Given the description of an element on the screen output the (x, y) to click on. 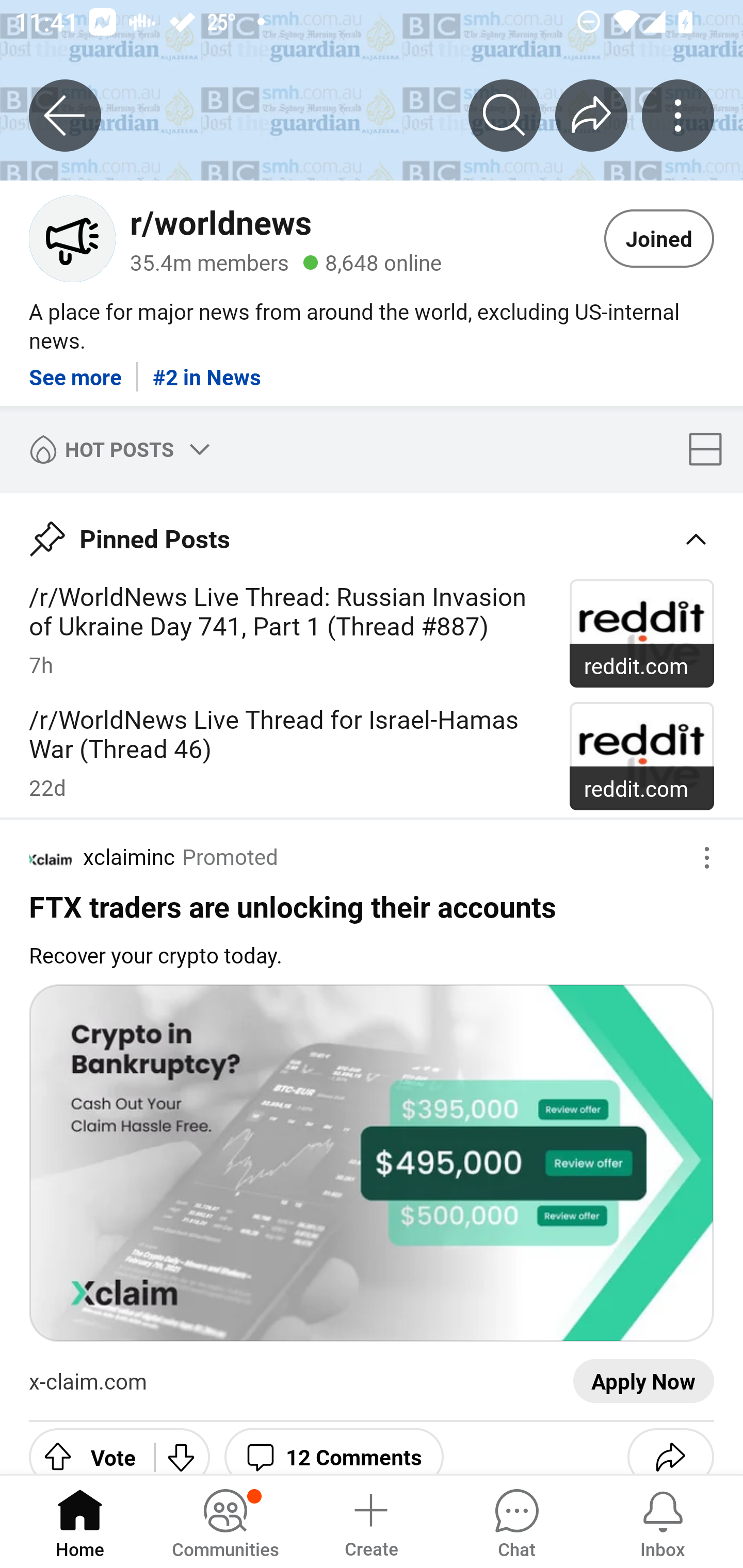
Back (64, 115)
Search r/﻿worldnews (504, 115)
Share r/﻿worldnews (591, 115)
More community actions (677, 115)
See more (74, 369)
#2 in News (206, 369)
HOT POSTS Sort by Hot posts (115, 449)
Card display (711, 449)
Pin Pinned Posts Caret (371, 532)
Author xclaiminc (101, 856)
Image (371, 1163)
x-claim.com (87, 1382)
Apply Now (643, 1382)
Upvote Vote (83, 1447)
Downvote (181, 1447)
12 Comments (333, 1447)
Share (670, 1447)
Home (80, 1520)
Communities, has notifications Communities (225, 1520)
Create a post Create (370, 1520)
Chat (516, 1520)
Inbox (662, 1520)
